Given the description of an element on the screen output the (x, y) to click on. 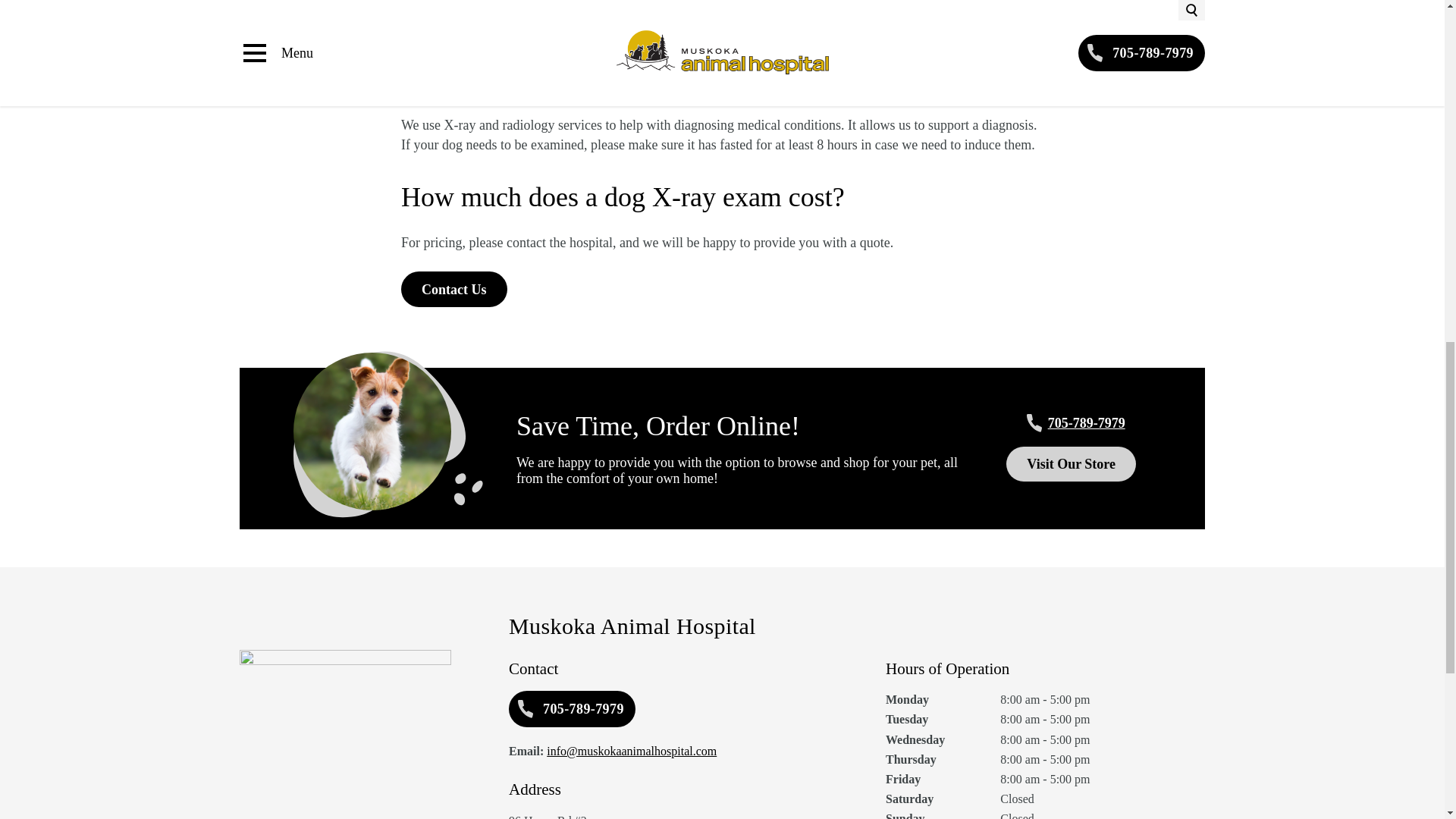
705-789-7979 (1071, 423)
Contact Us (453, 289)
Visit Our Store (1070, 464)
705-789-7979 (571, 709)
Contact Us (453, 2)
